Given the description of an element on the screen output the (x, y) to click on. 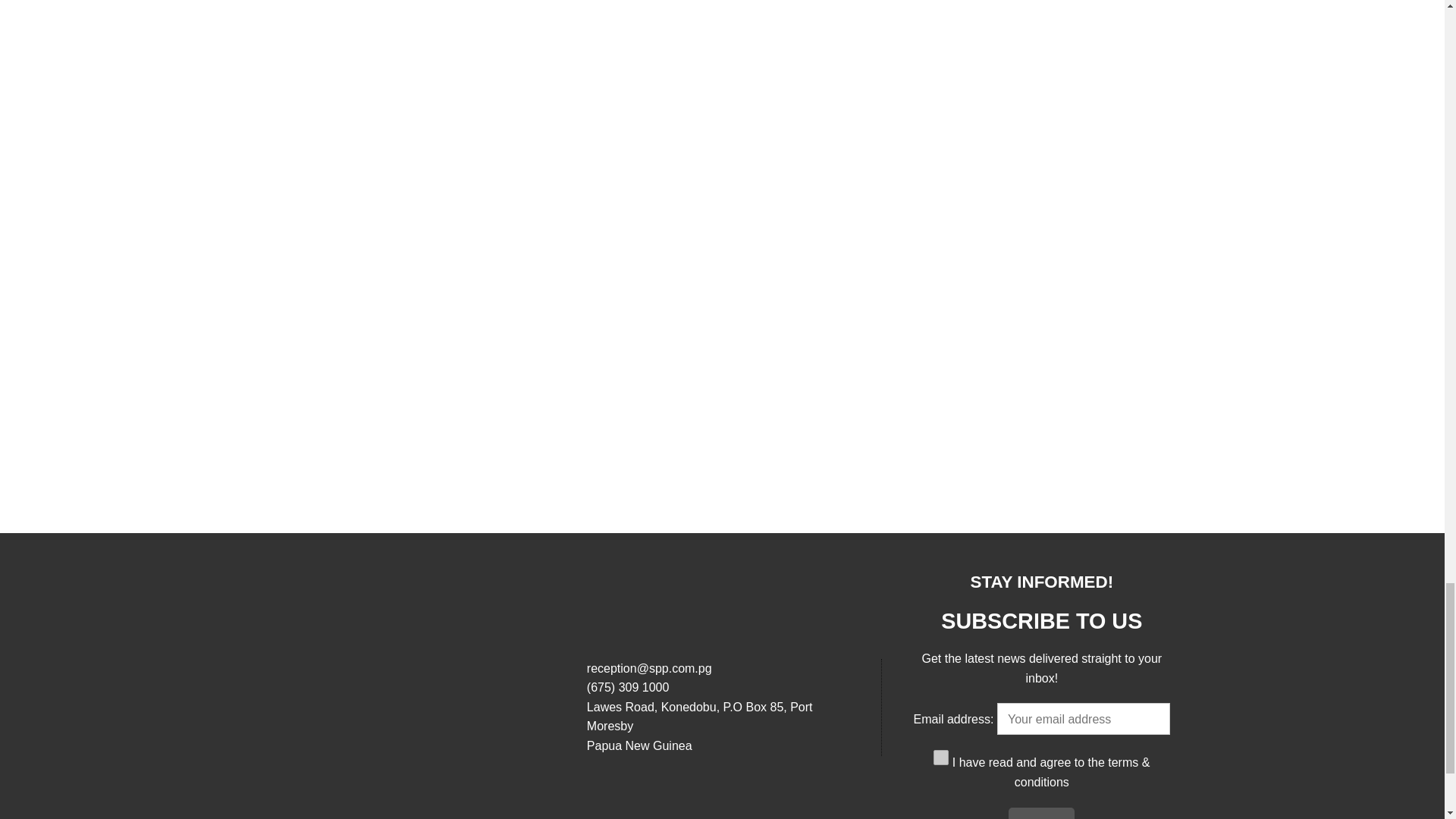
Sign up (1041, 813)
1 (941, 757)
Open address in Google Maps (721, 726)
VideoPress Video Player (1040, 293)
